Given the description of an element on the screen output the (x, y) to click on. 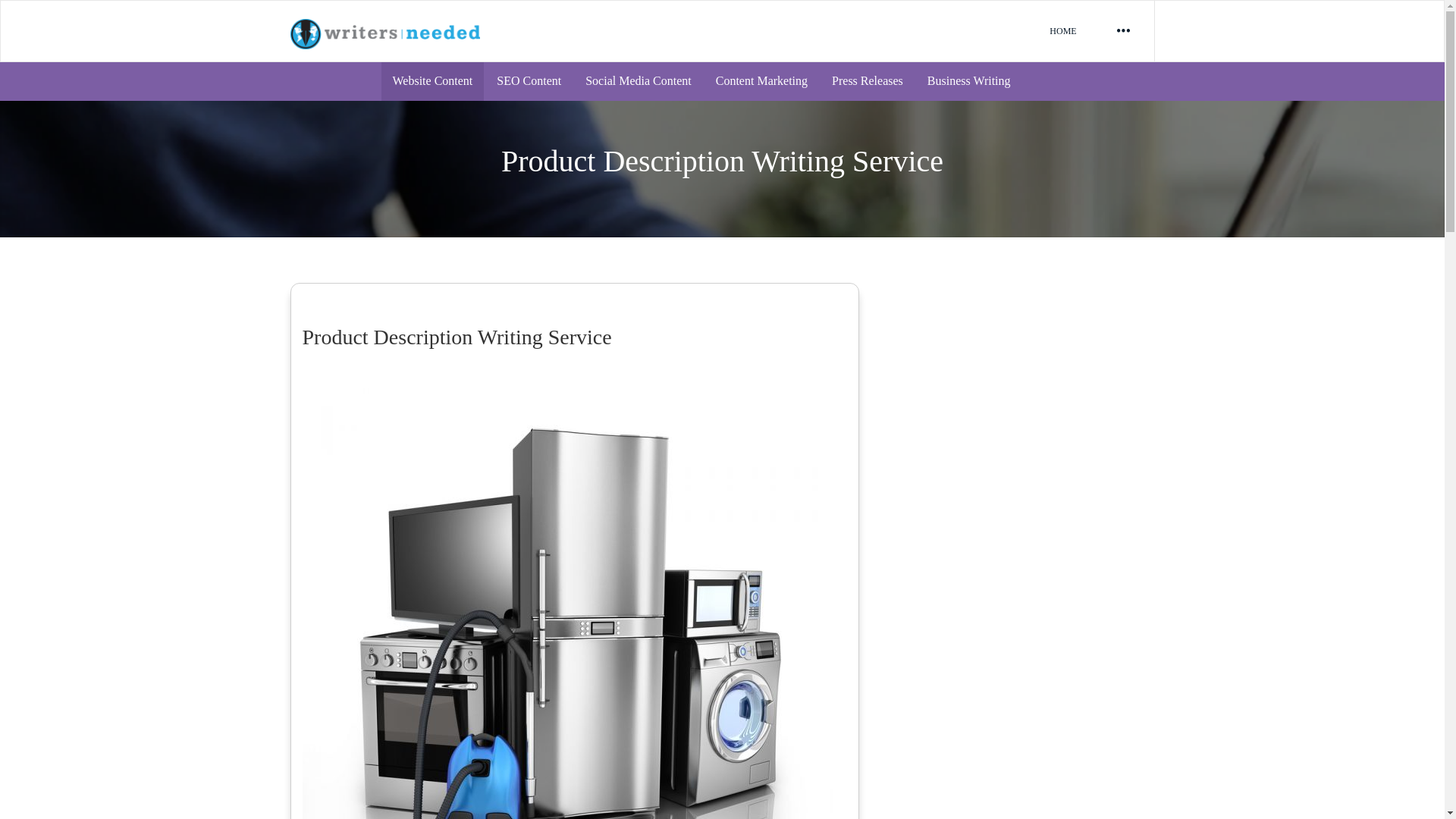
Website Content (431, 81)
SEO Content (528, 81)
Business Writing (968, 81)
Home (1062, 30)
HOME (1062, 30)
Social Media Content (638, 81)
Content Marketing (761, 81)
Press Releases (867, 81)
